Given the description of an element on the screen output the (x, y) to click on. 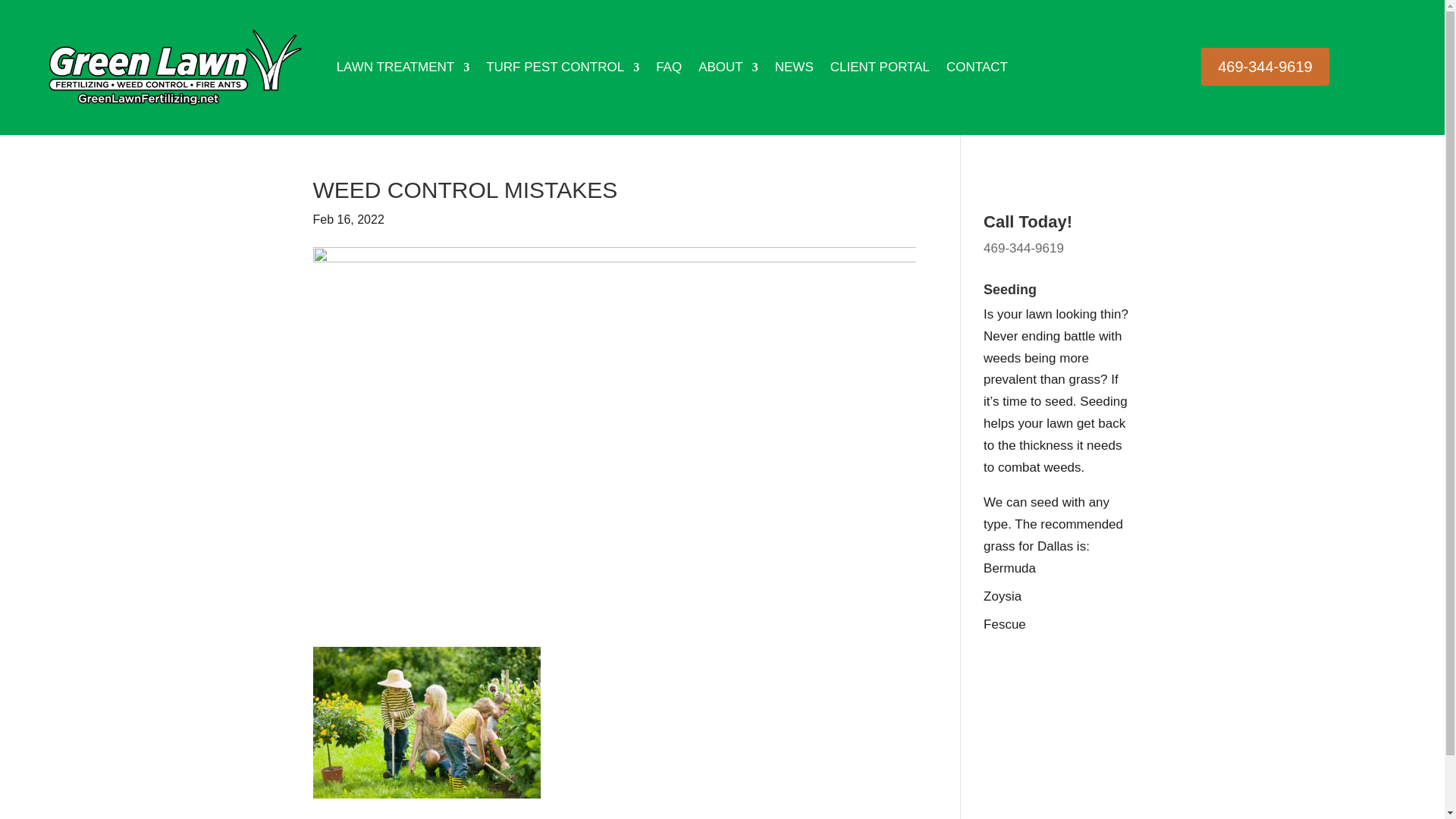
469-344-9619 (1024, 247)
Client Portal (879, 67)
CLIENT PORTAL (879, 67)
TURF PEST CONTROL (562, 67)
Lawn Care Rockwall (403, 67)
469-344-9619 (1265, 66)
Pest Control Service (562, 67)
LAWN TREATMENT (403, 67)
